Given the description of an element on the screen output the (x, y) to click on. 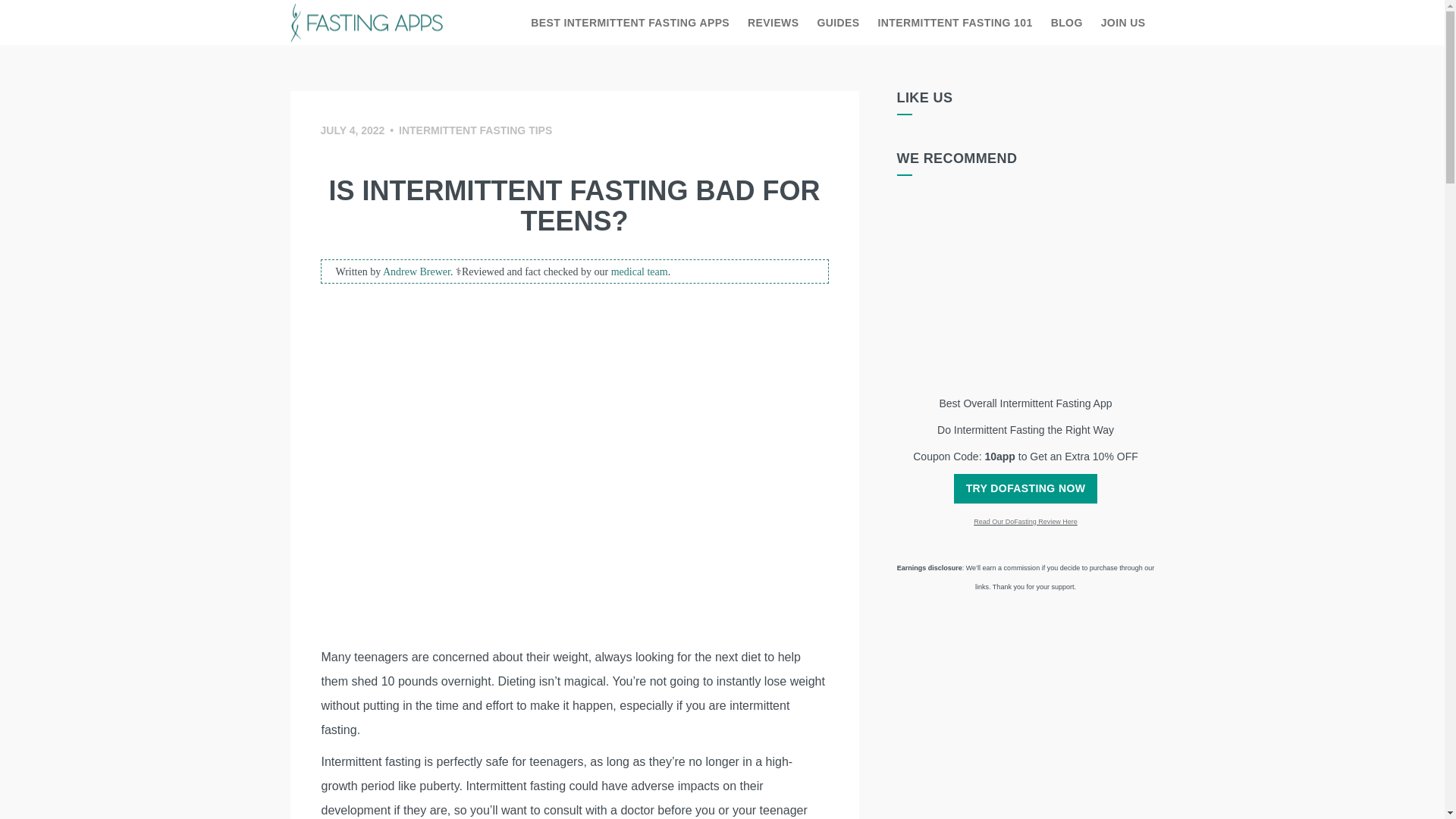
INTERMITTENT FASTING 101 (955, 22)
GUIDES (837, 22)
BLOG (1067, 22)
REVIEWS (773, 22)
JOIN US (1123, 22)
BEST INTERMITTENT FASTING APPS (629, 22)
